Given the description of an element on the screen output the (x, y) to click on. 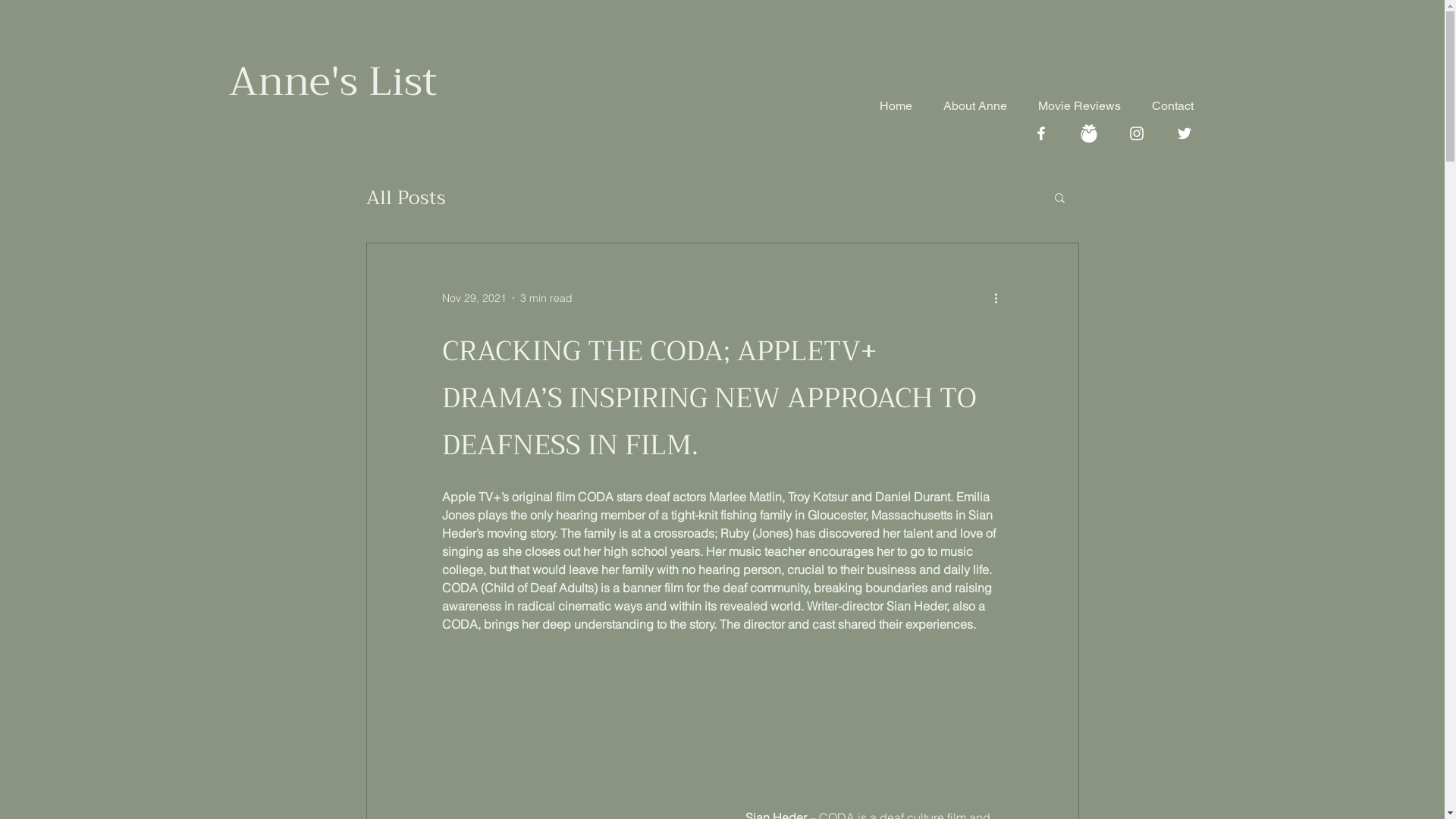
Home Element type: text (887, 106)
All Posts Element type: text (405, 196)
Contact Element type: text (1164, 106)
Anne's List Element type: text (333, 81)
Movie Reviews Element type: text (1071, 106)
About Anne Element type: text (966, 106)
